Given the description of an element on the screen output the (x, y) to click on. 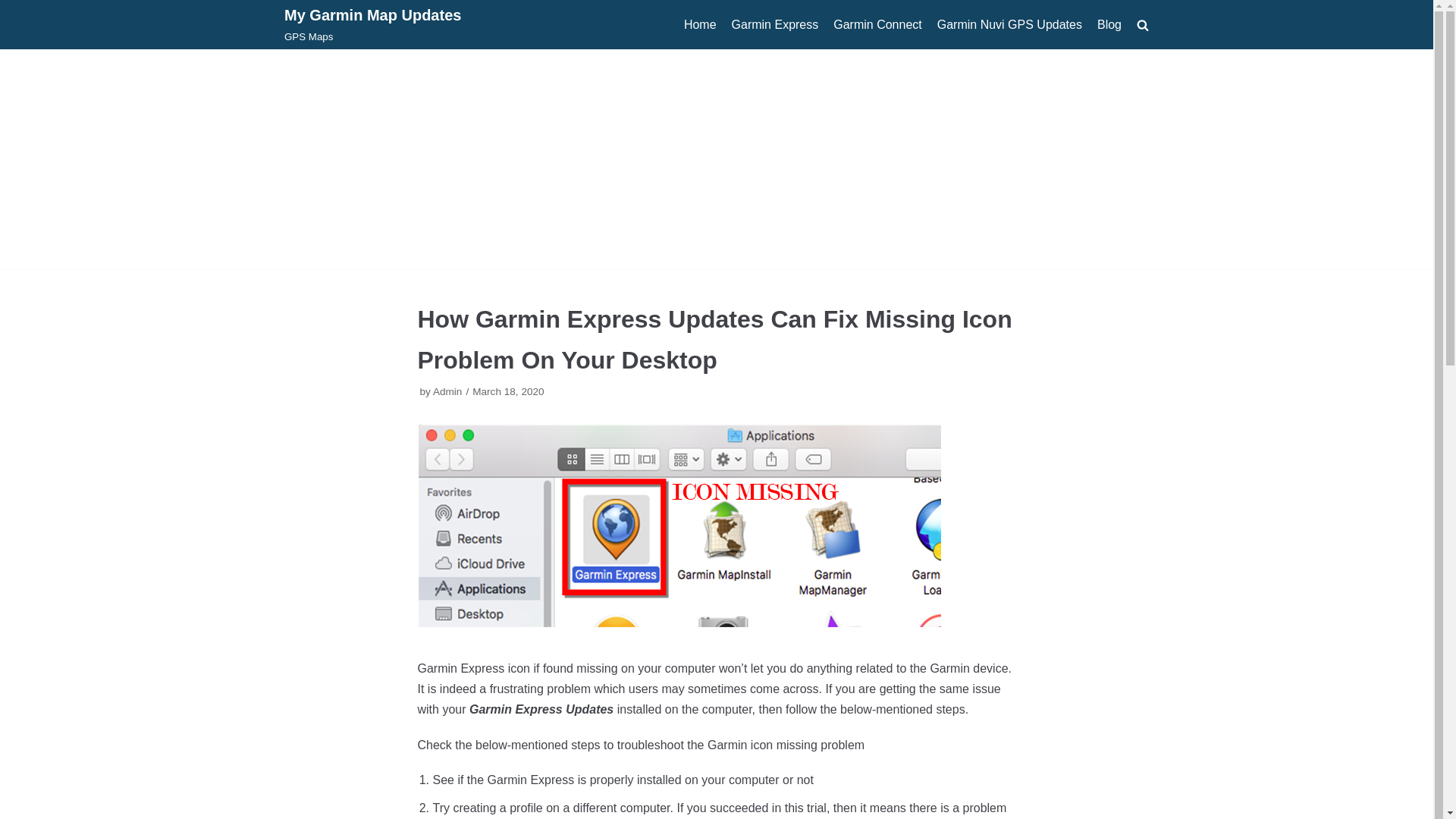
Garmin Nuvi GPS Updates (1009, 25)
Home (700, 25)
Posts by Admin (372, 24)
Garmin Connect (447, 391)
Blog (876, 25)
Skip to content (1109, 25)
Garmin Express (15, 7)
My Garmin Map Updates (775, 25)
Search (372, 24)
Advertisement (1116, 57)
